Given the description of an element on the screen output the (x, y) to click on. 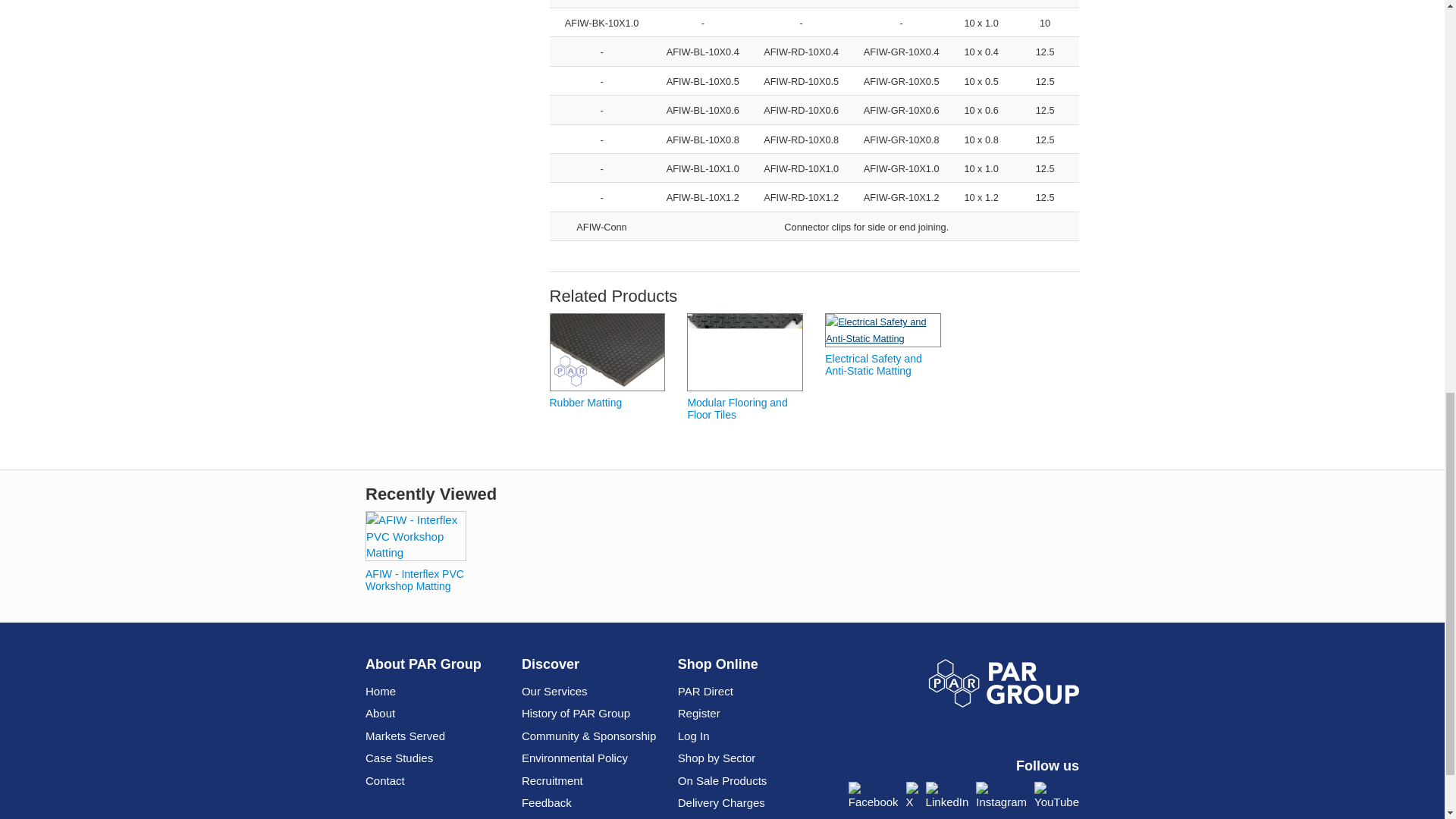
Rubber Matting (606, 351)
AFIW - Interflex PVC Workshop Matting (415, 534)
Modular Flooring and Floor Tiles (745, 351)
Electrical Safety and Anti-Static Matting (882, 329)
